Given the description of an element on the screen output the (x, y) to click on. 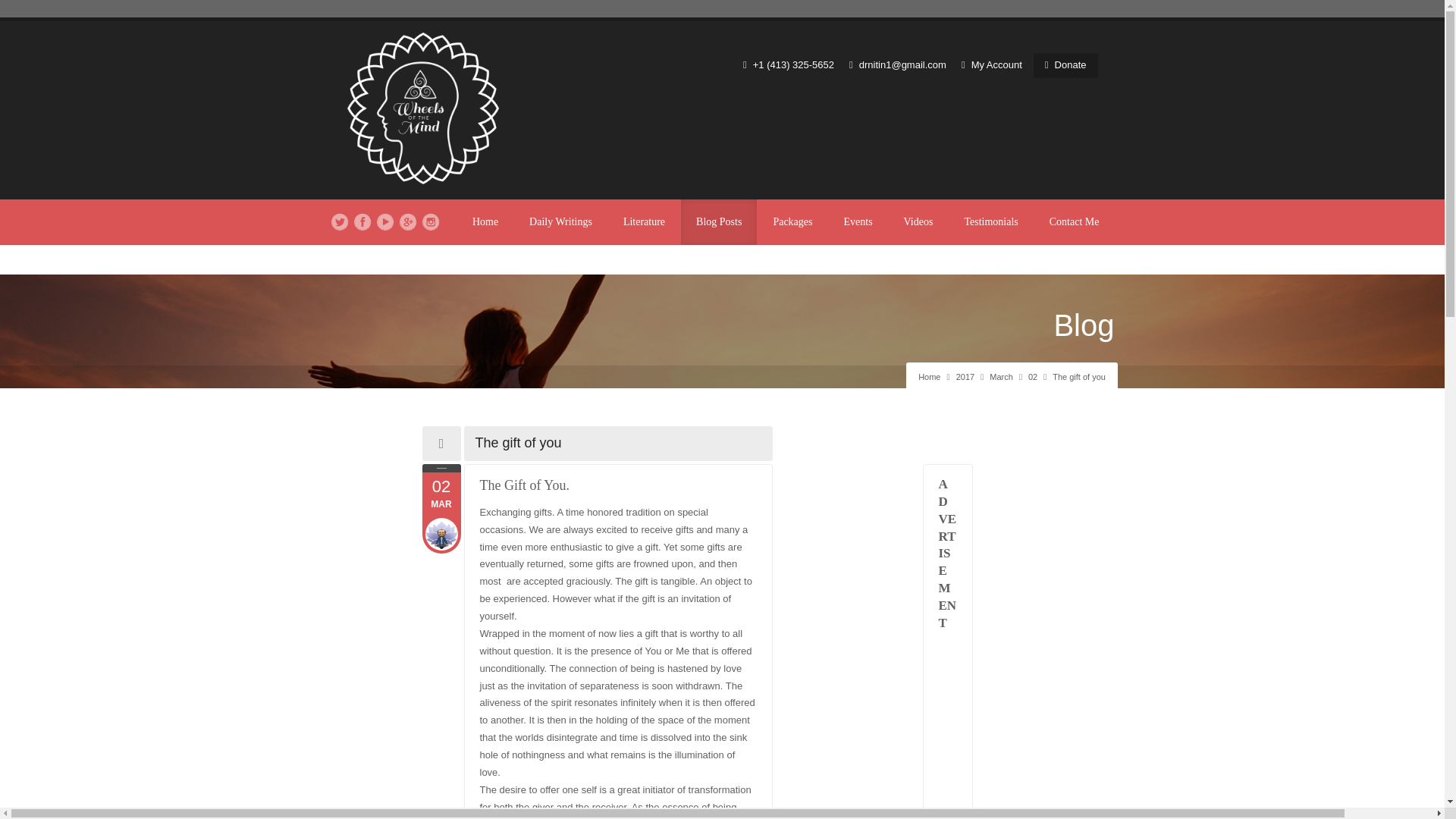
Packages (792, 222)
My Account (991, 64)
Home (929, 376)
Twitter (339, 221)
Literature (644, 222)
Blog (1082, 325)
Comments (441, 495)
2017 (965, 376)
Facebook (441, 495)
Daily Writings (362, 221)
GooglePlus (560, 222)
March 2017 (407, 221)
2017 (1001, 376)
Wheels Of The Mind (965, 376)
